Given the description of an element on the screen output the (x, y) to click on. 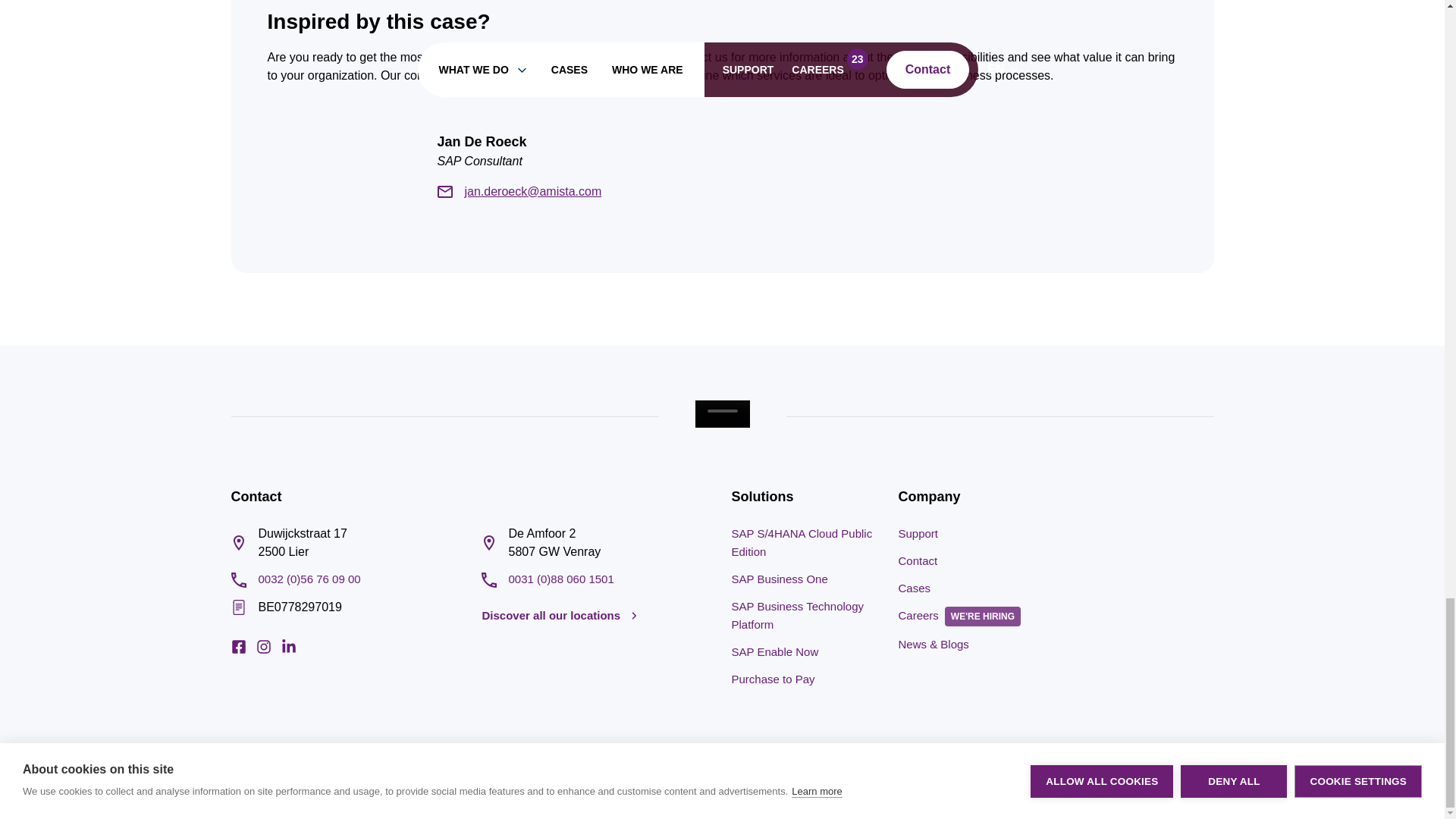
Discover all our locations (559, 615)
SAP Business One (778, 578)
CareersWE'RE HIRING (963, 615)
Cases (914, 587)
Support (917, 533)
SAP Enable Now (774, 651)
Purchase to Pay (771, 678)
Cookies (1195, 787)
SAP Business Technology Platform (796, 614)
Contact (917, 560)
General conditions (1049, 787)
Privacy Policy (1134, 787)
